Given the description of an element on the screen output the (x, y) to click on. 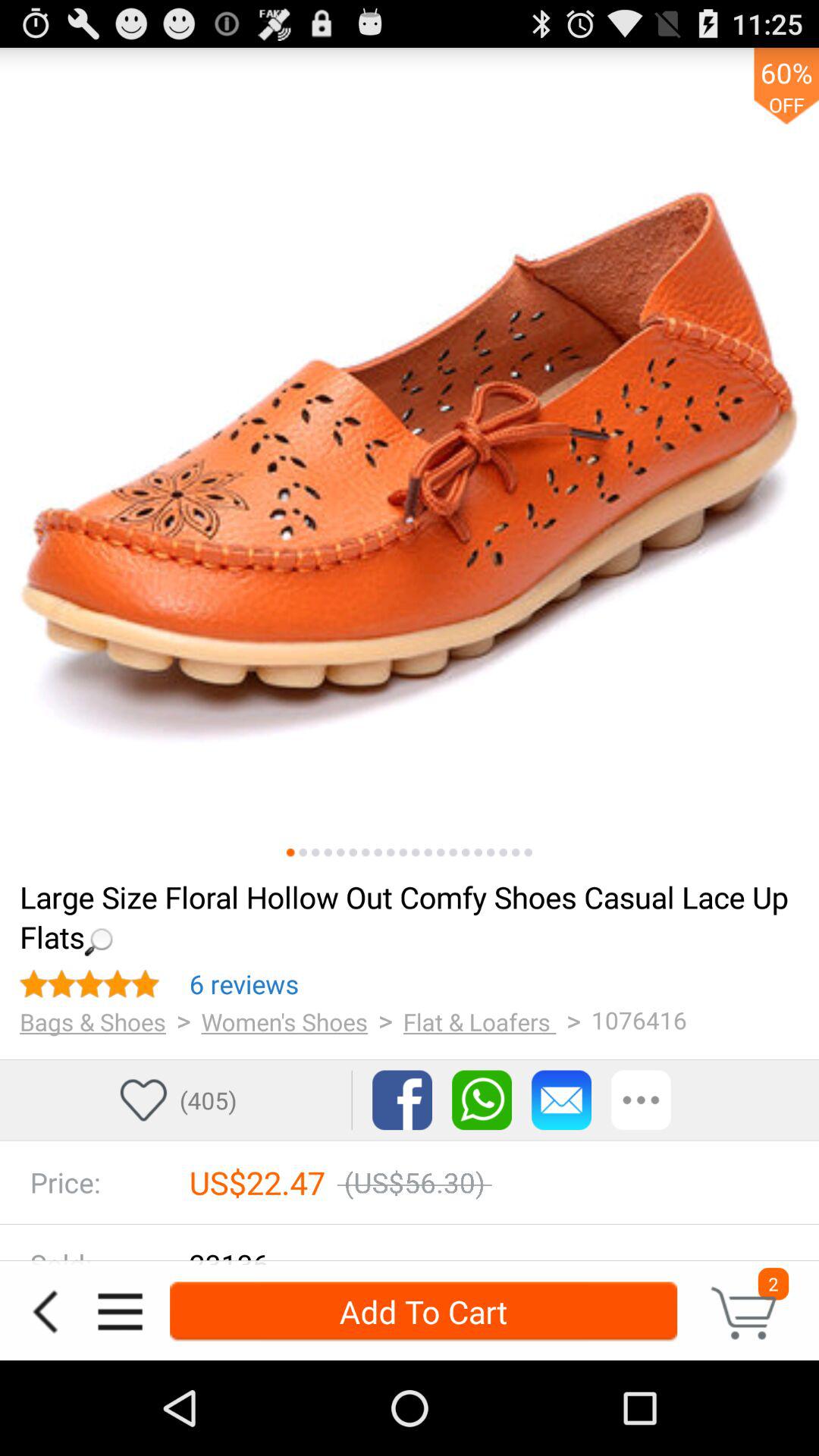
press app to the right of > app (284, 1021)
